Given the description of an element on the screen output the (x, y) to click on. 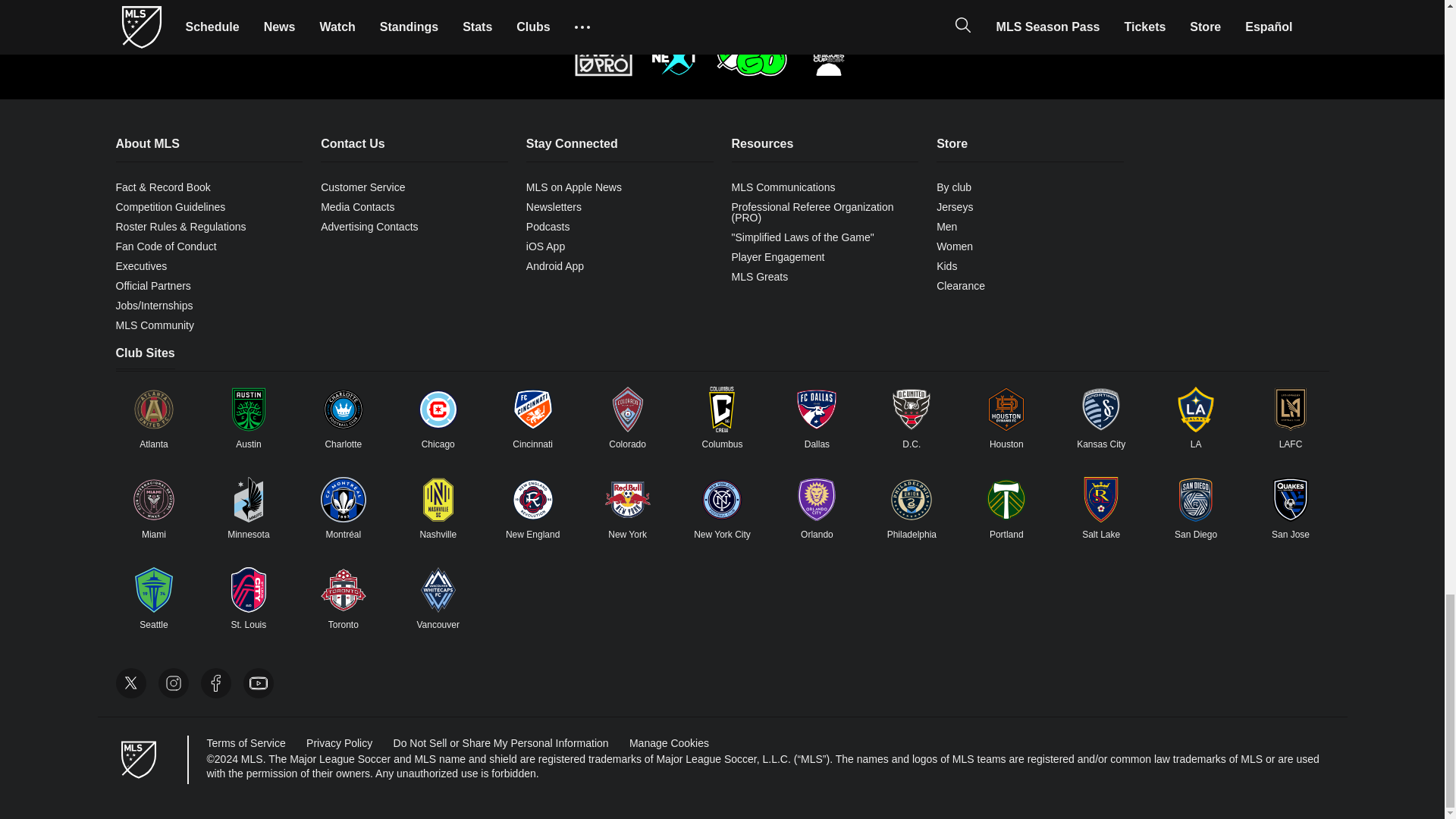
Link to Austin (247, 409)
Link to Cincinnati (533, 409)
Link to Chicago (437, 409)
Link to Charlotte (343, 409)
Link to Colorado (627, 409)
Link to Atlanta (153, 409)
